Given the description of an element on the screen output the (x, y) to click on. 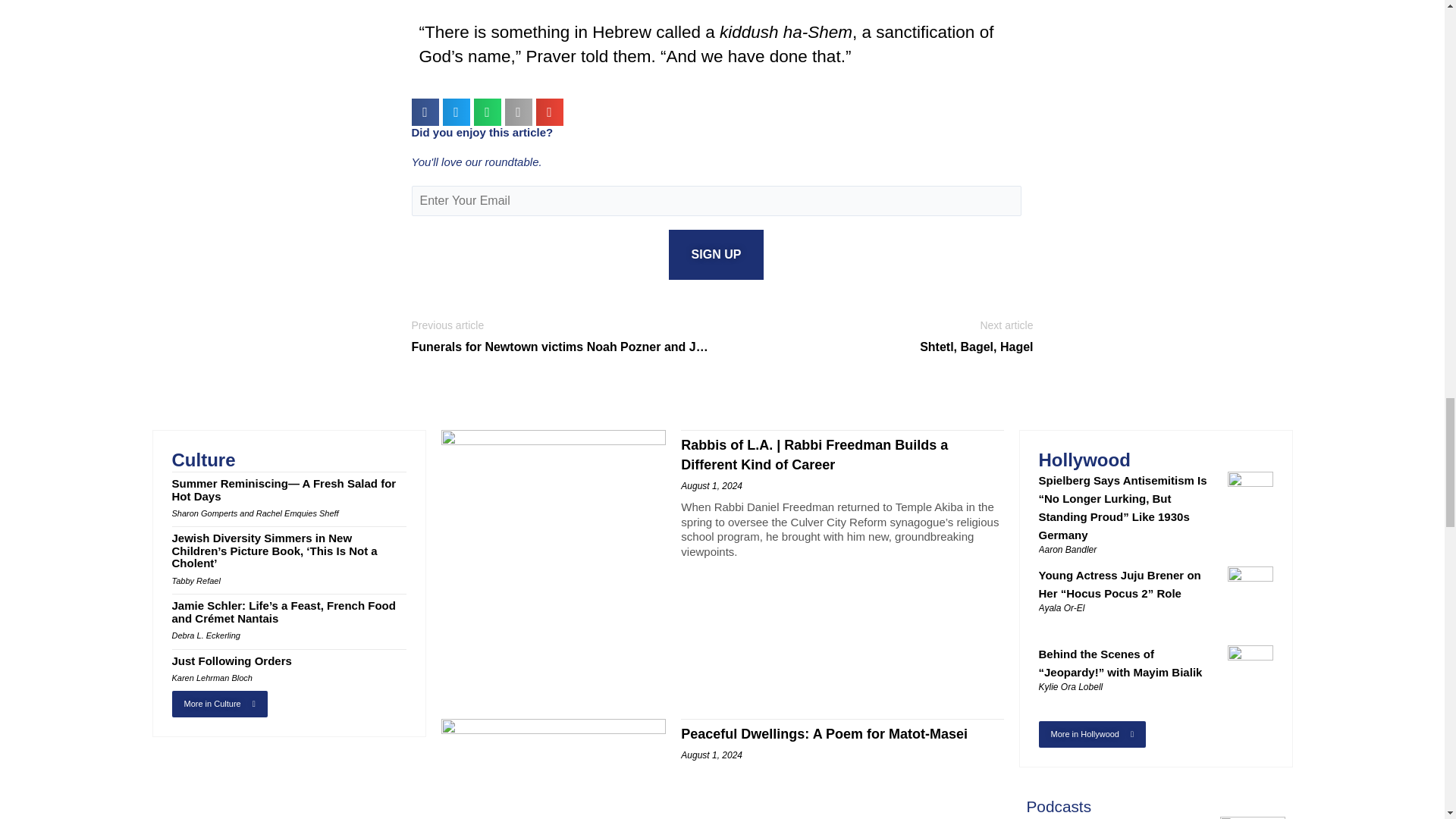
Sign Up (715, 254)
